Given the description of an element on the screen output the (x, y) to click on. 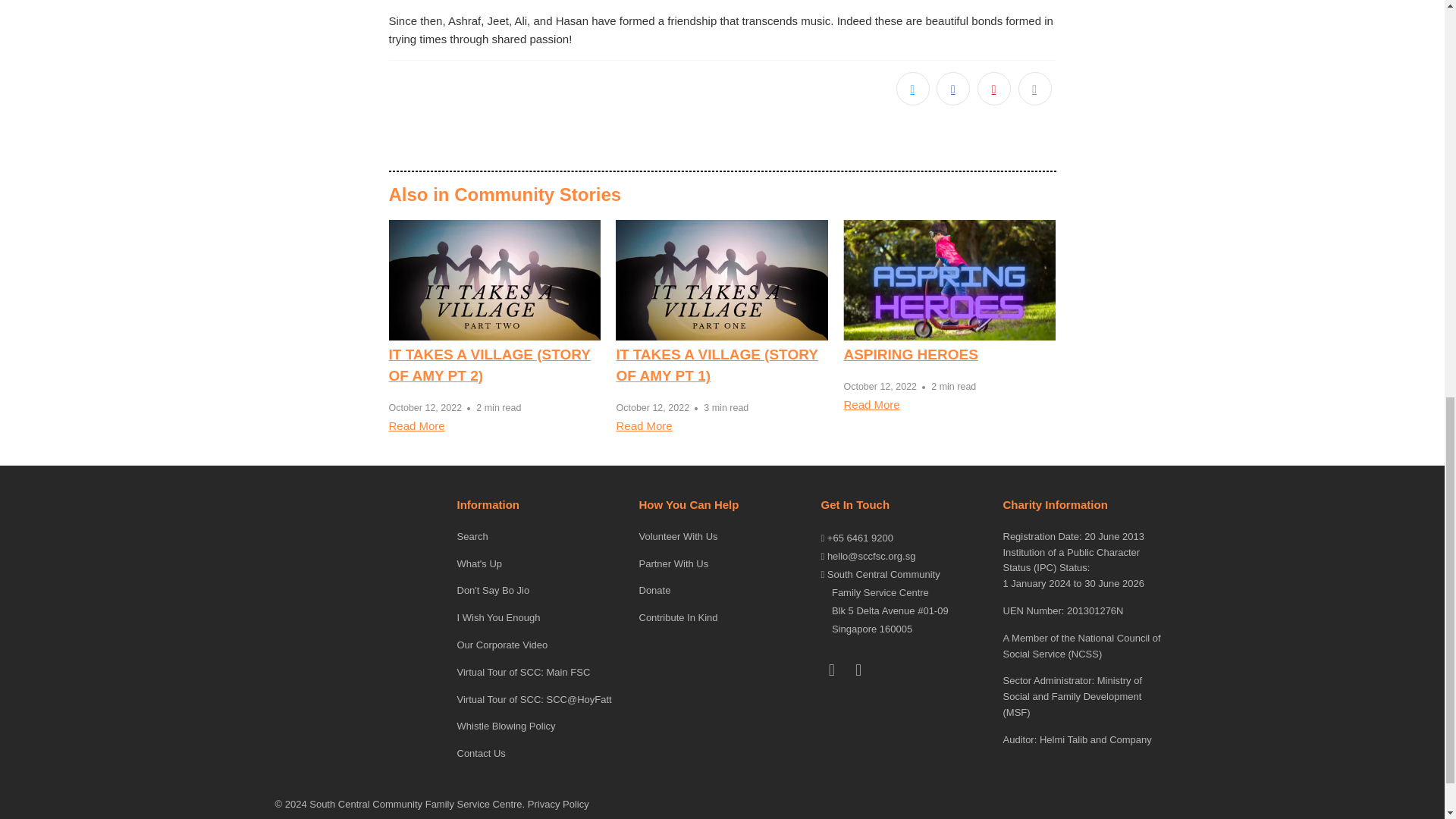
Share this on Pinterest (993, 88)
Share this on Twitter (913, 88)
Email this to a friend (1034, 88)
Share this on Facebook (952, 88)
ASPIRING HEROES (949, 280)
ASPIRING HEROES (909, 354)
